Given the description of an element on the screen output the (x, y) to click on. 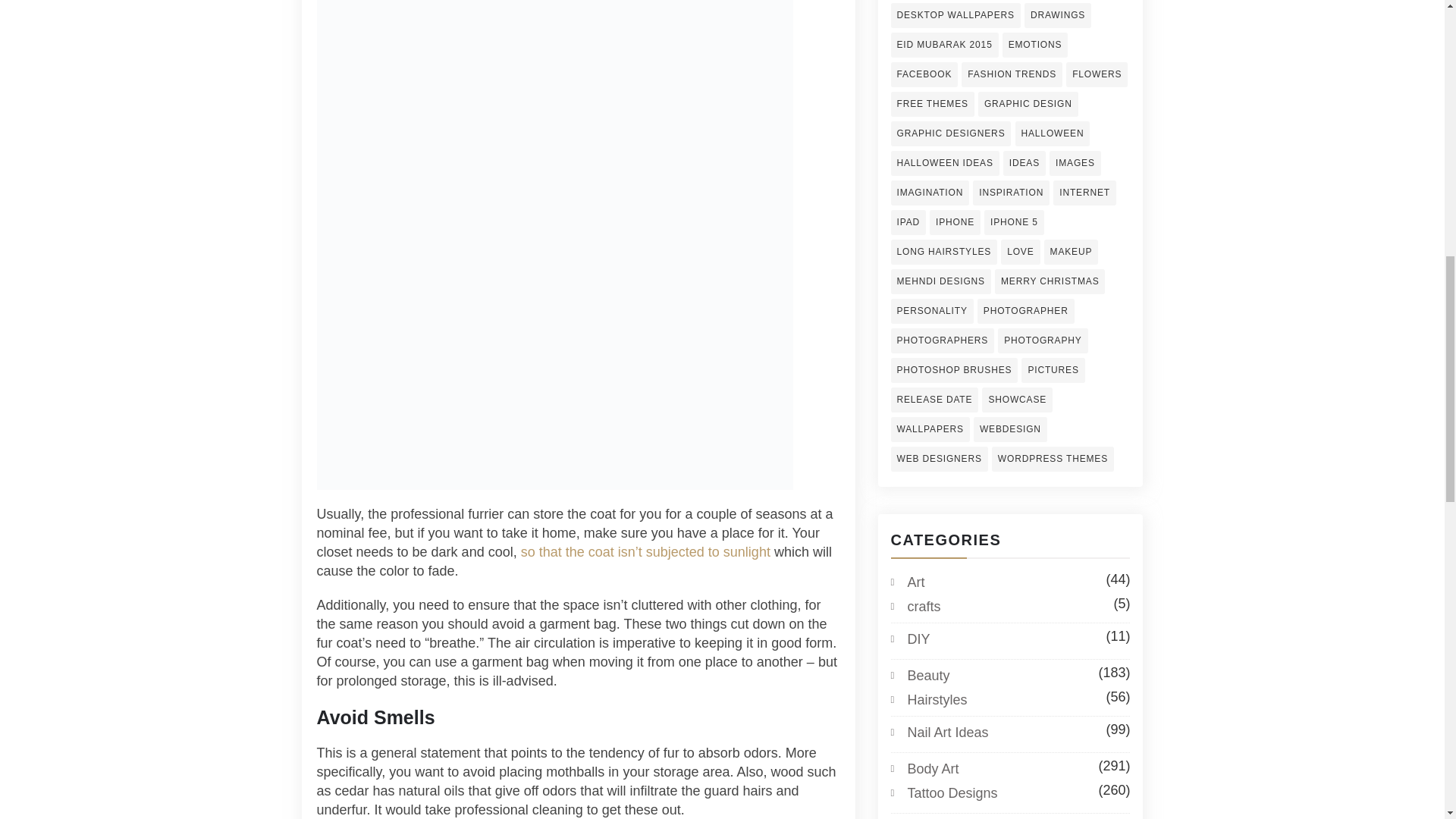
DRAWINGS (1057, 15)
DESKTOP WALLPAPERS (954, 15)
EMOTIONS (1035, 44)
EID MUBARAK 2015 (943, 44)
FACEBOOK (923, 74)
